Given the description of an element on the screen output the (x, y) to click on. 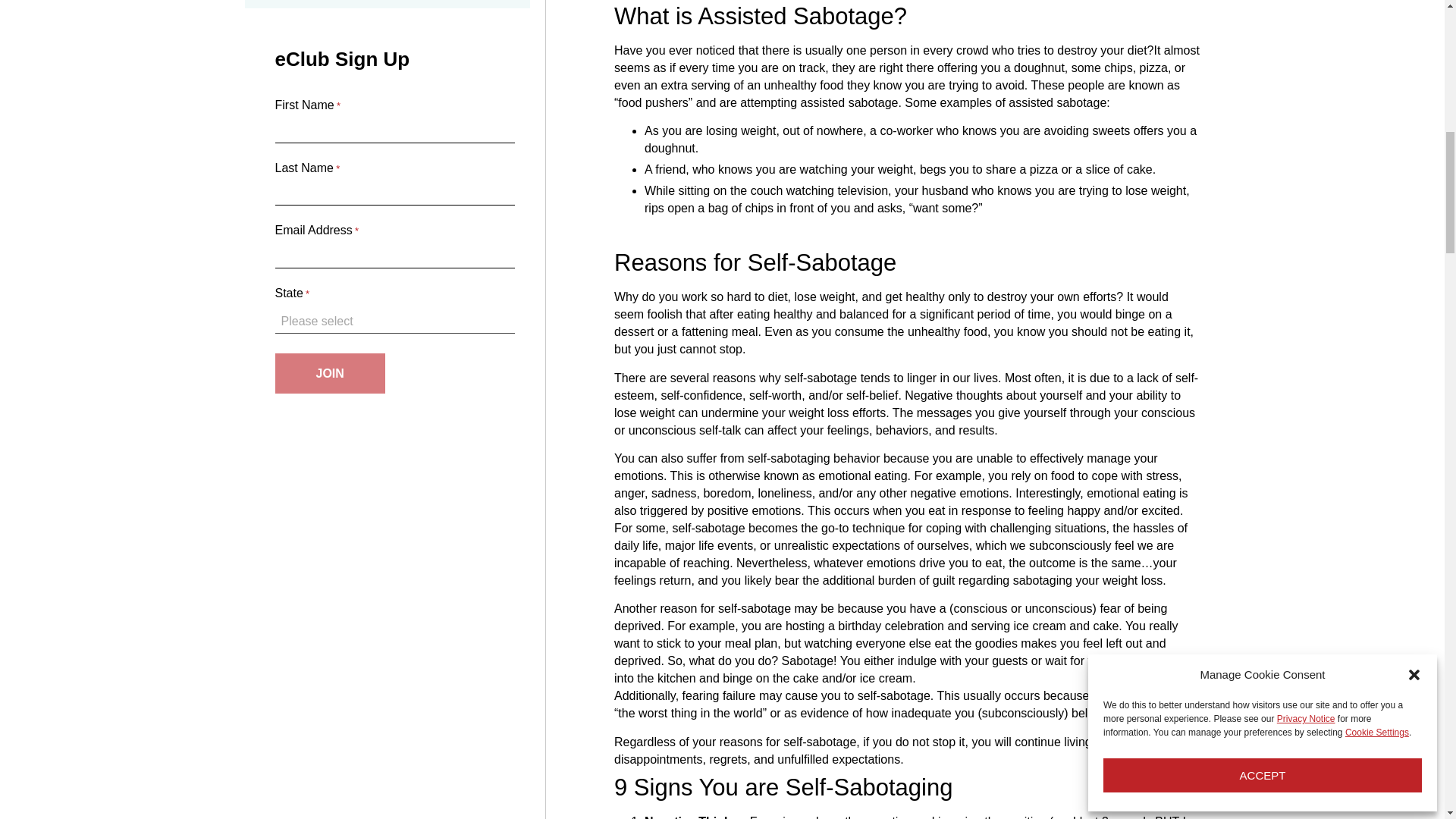
Join (329, 372)
Page 1 (906, 182)
Page 1 (906, 141)
